Given the description of an element on the screen output the (x, y) to click on. 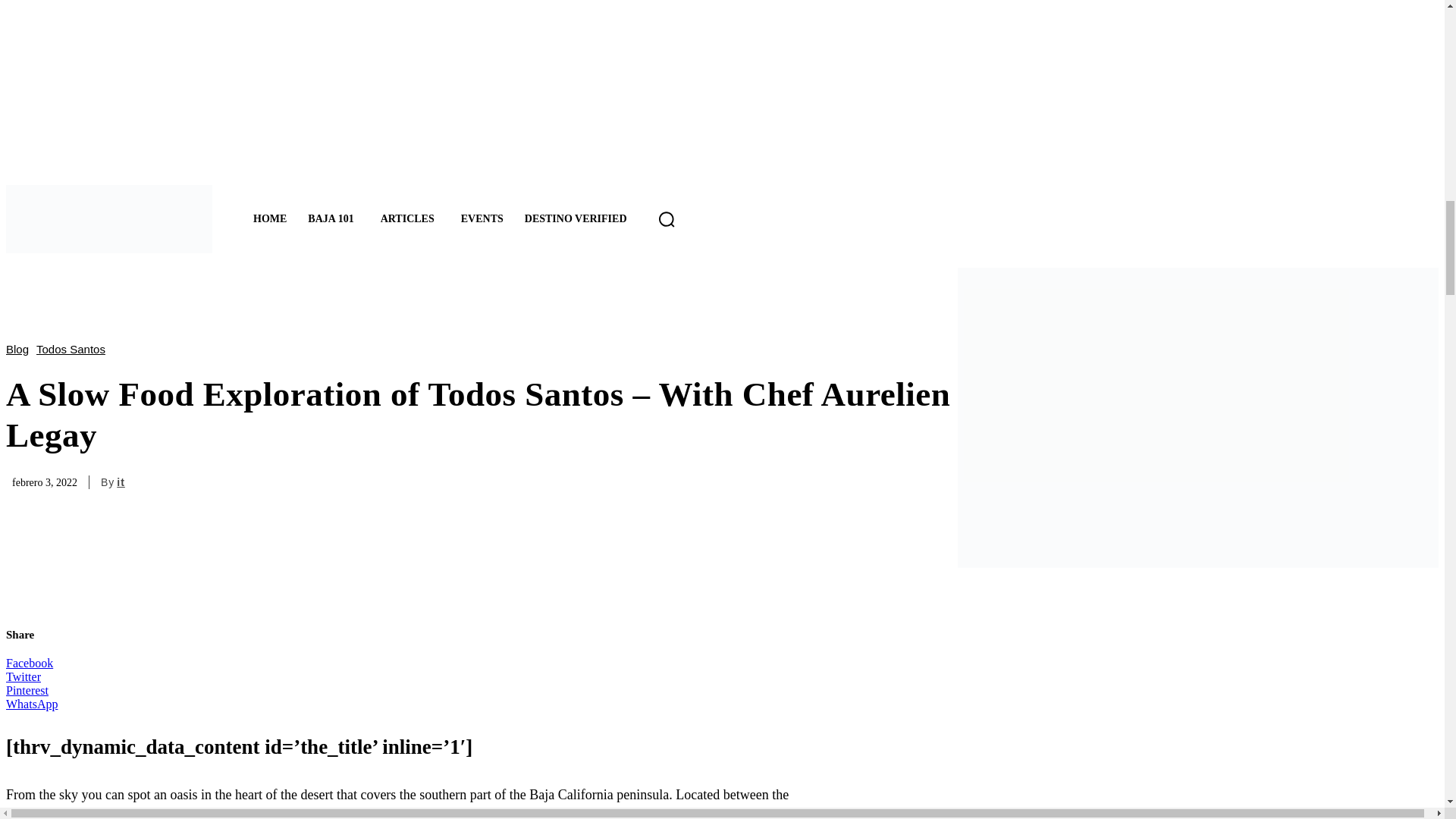
HOME (270, 219)
BAJA 101 (333, 219)
EVENTS (481, 219)
Blog (20, 348)
Todos Santos (74, 348)
DESTINO VERIFIED (575, 219)
ARTICLES (409, 219)
Facebook (28, 663)
